Given the description of an element on the screen output the (x, y) to click on. 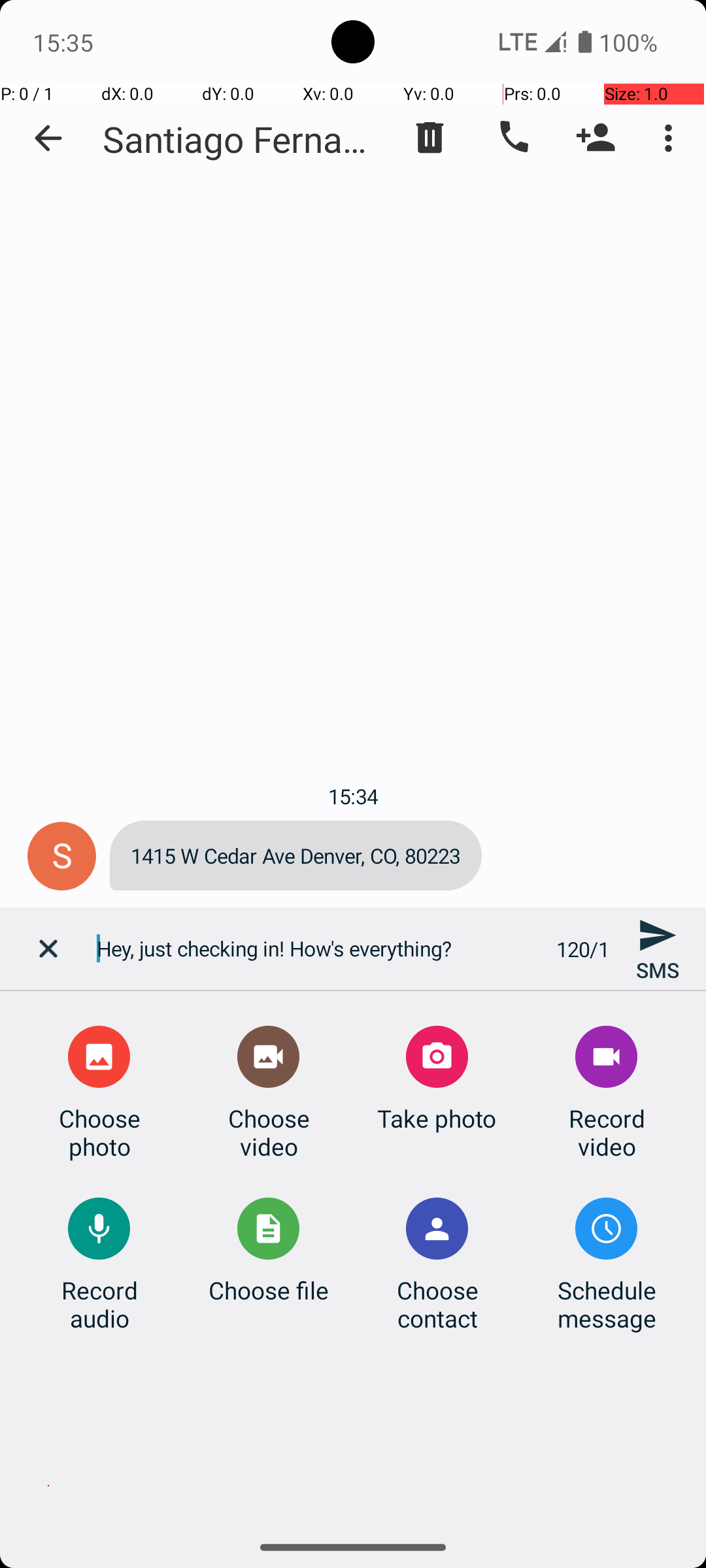
Santiago Fernandez Element type: android.widget.TextView (241, 138)
Hey, just checking in! How's everything? Element type: android.widget.EditText (318, 948)
120/1 Element type: android.widget.TextView (582, 948)
1415 W Cedar Ave Denver, CO, 80223 Element type: android.widget.TextView (295, 855)
Choose photo Element type: android.widget.TextView (98, 1131)
Choose video Element type: android.widget.TextView (268, 1131)
Record video Element type: android.widget.TextView (606, 1131)
Record audio Element type: android.widget.TextView (98, 1303)
Choose file Element type: android.widget.TextView (268, 1289)
Choose contact Element type: android.widget.TextView (436, 1303)
Schedule message Element type: android.widget.TextView (606, 1303)
